Given the description of an element on the screen output the (x, y) to click on. 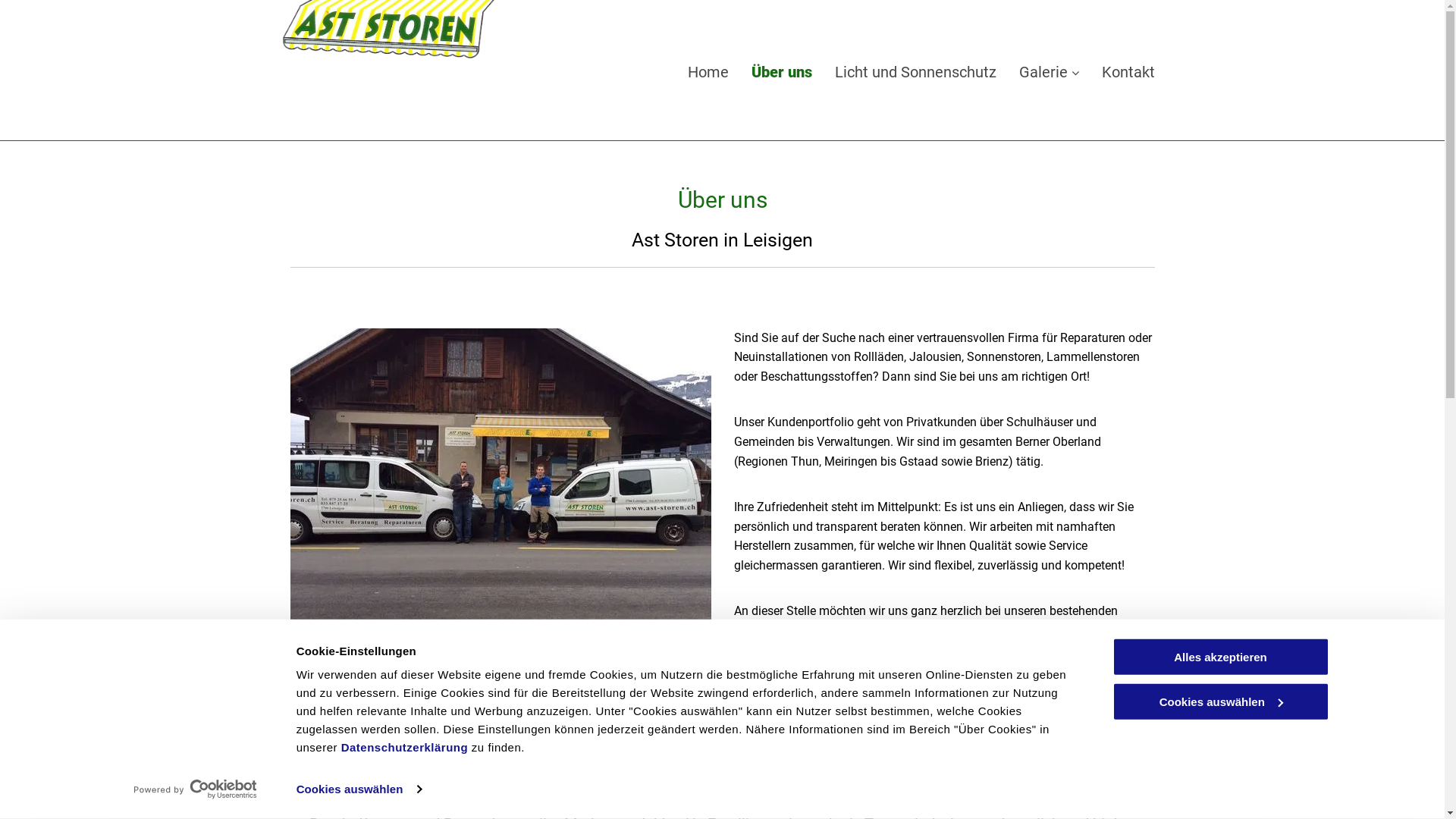
Alles akzeptieren Element type: text (1219, 656)
Kontakt Element type: text (1127, 81)
Galerie Element type: text (1049, 81)
Licht und Sonnenschutz Element type: text (914, 81)
Home Element type: text (707, 81)
